Given the description of an element on the screen output the (x, y) to click on. 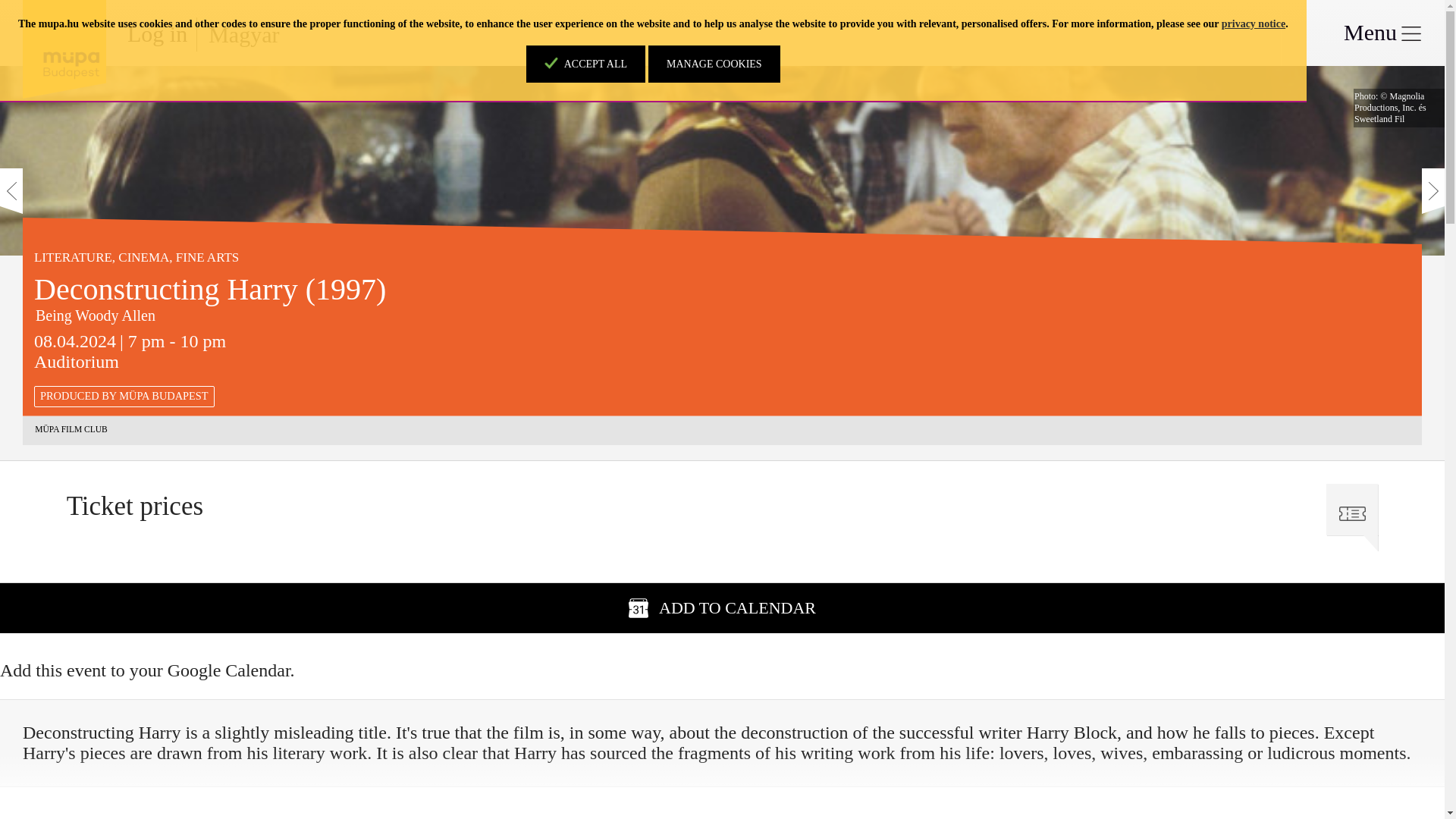
privacy notice (1253, 23)
MANAGE COOKIES (713, 63)
Log in (157, 33)
Magyar (243, 34)
ACCEPT ALL (585, 63)
